Given the description of an element on the screen output the (x, y) to click on. 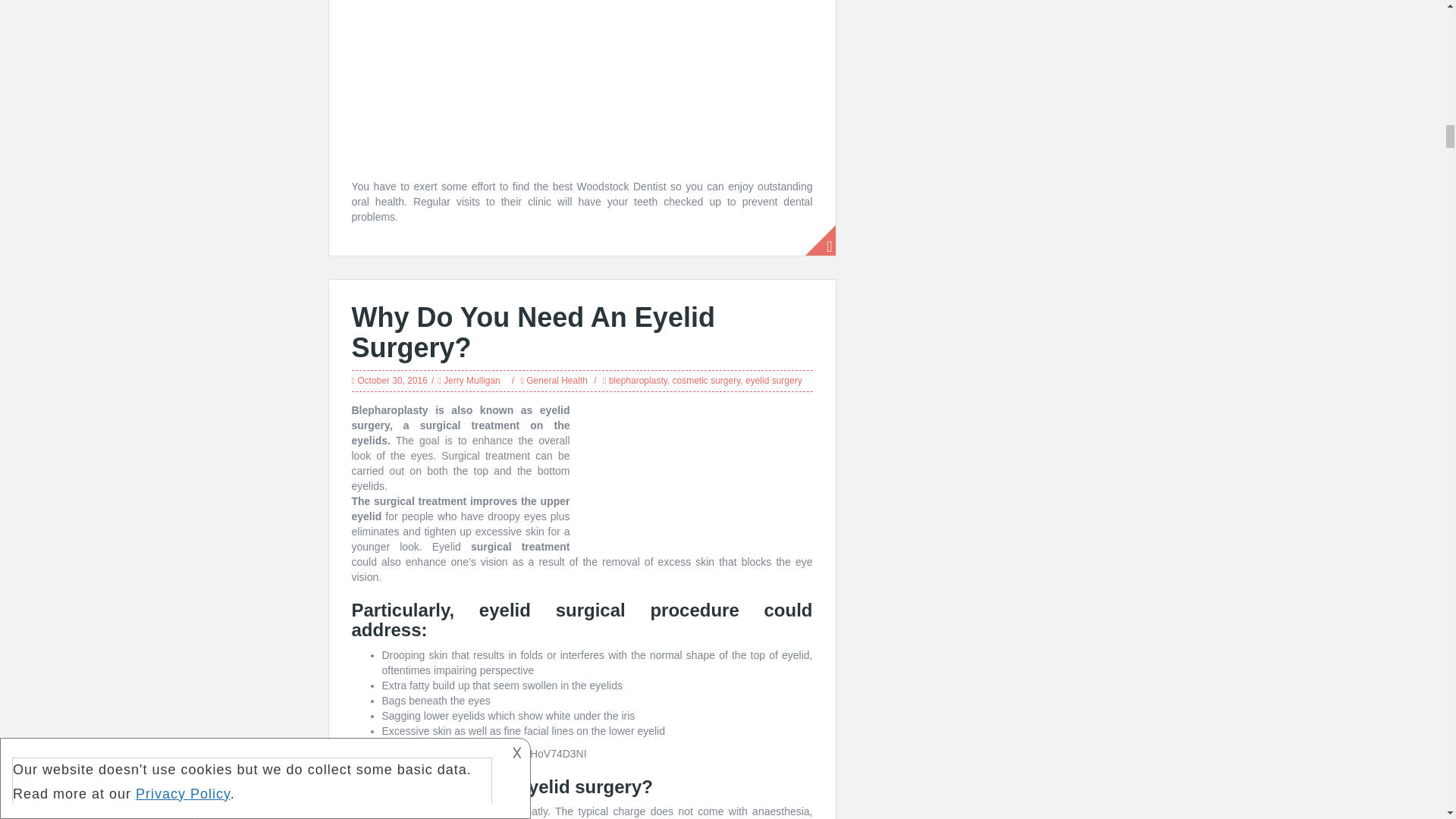
Dental Care at Home (582, 85)
